Given the description of an element on the screen output the (x, y) to click on. 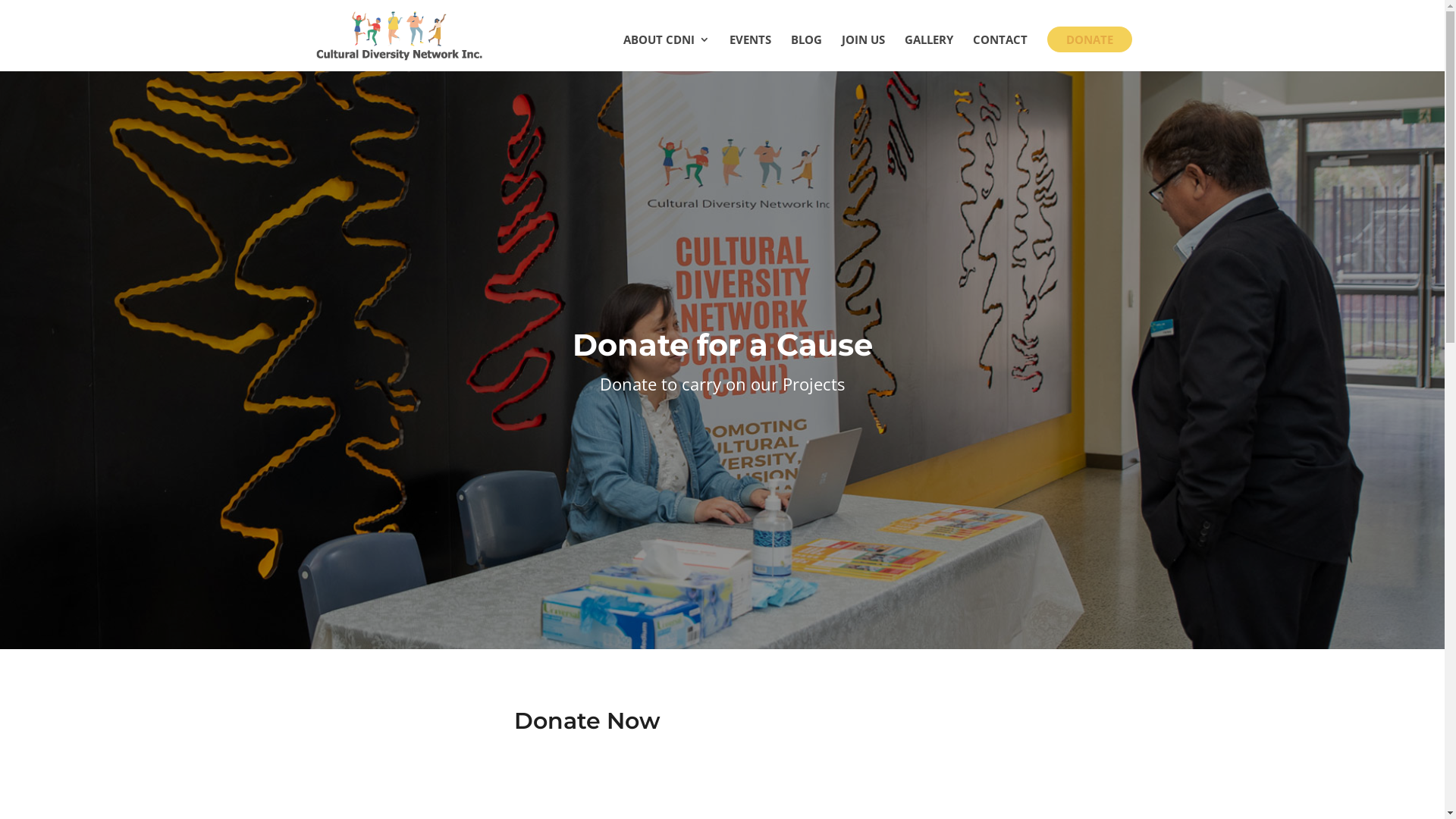
Donate Now Element type: text (587, 720)
BLOG Element type: text (805, 52)
EVENTS Element type: text (750, 52)
JOIN US Element type: text (862, 52)
CONTACT Element type: text (999, 52)
GALLERY Element type: text (927, 52)
DONATE Element type: text (1088, 39)
ABOUT CDNI Element type: text (666, 52)
